Given the description of an element on the screen output the (x, y) to click on. 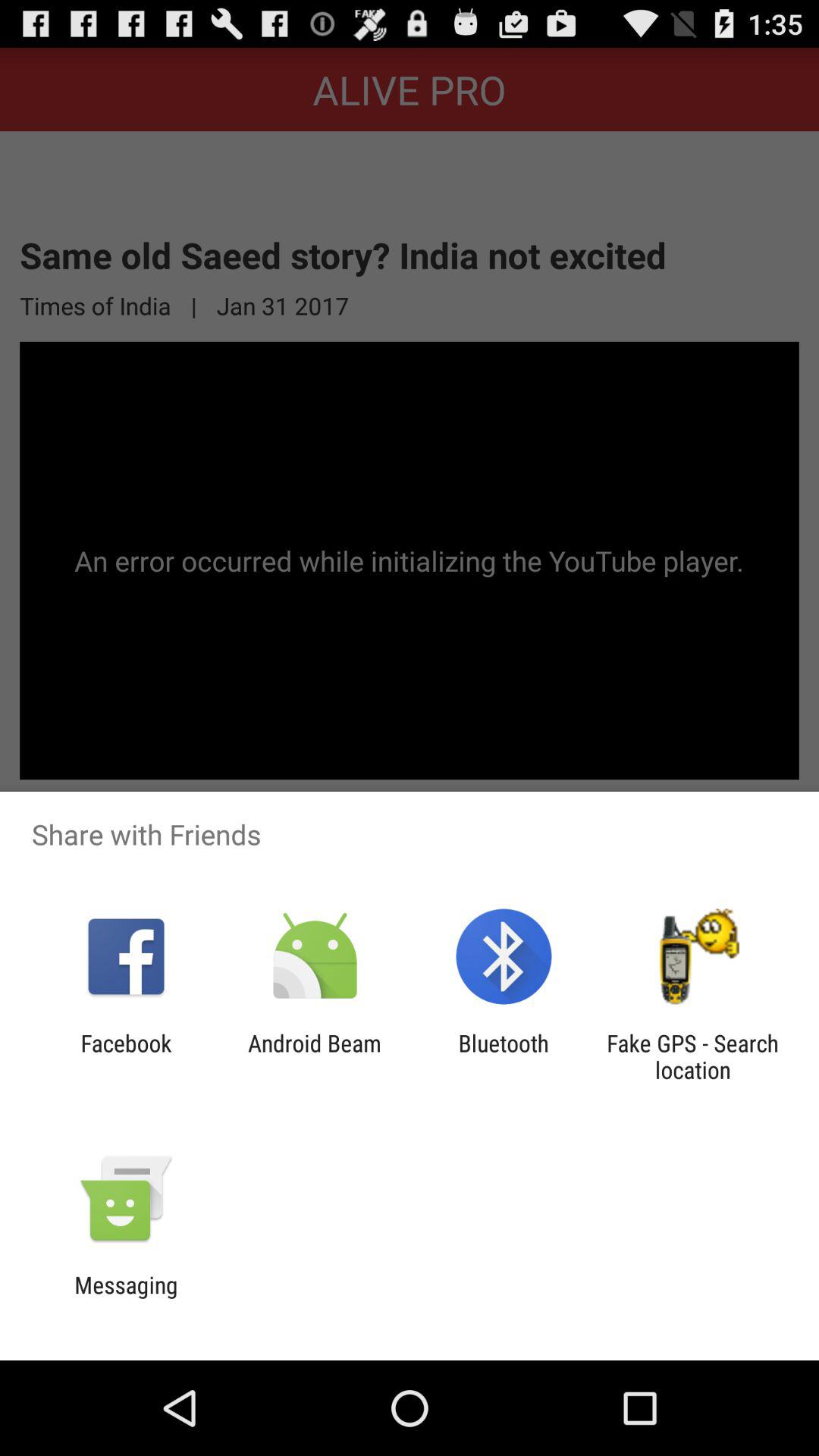
choose icon to the left of the android beam item (125, 1056)
